Given the description of an element on the screen output the (x, y) to click on. 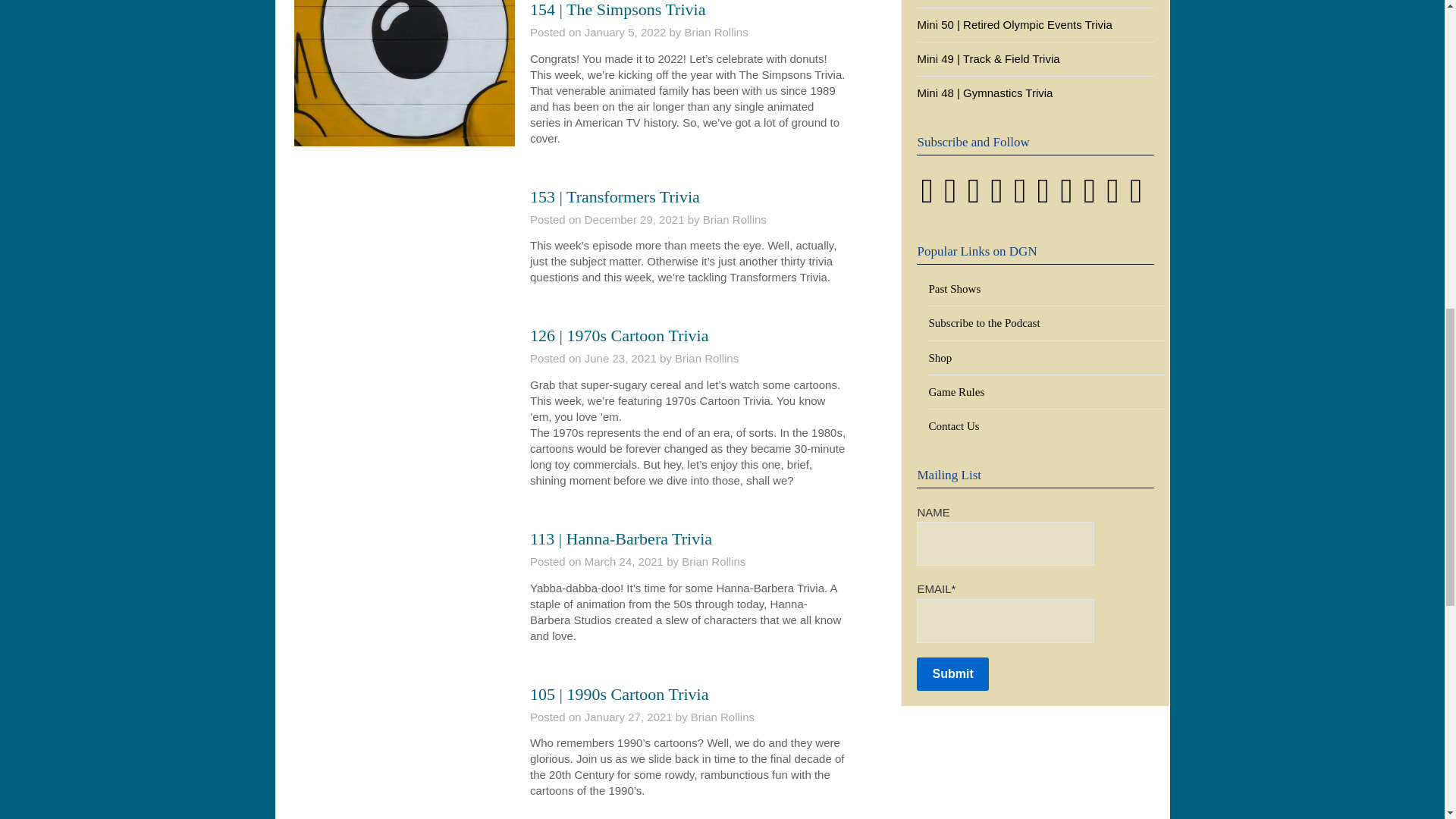
January 5, 2022 (625, 31)
Subscribe on Google Play (949, 197)
RSS Feed (1135, 197)
Follow the show on BlueSky (1066, 197)
Subscribe to the email list. (1112, 197)
Like Us on Facebook (1042, 197)
Submit (952, 674)
RSS Feed (1019, 197)
Subscribe on Stitcher (926, 197)
The DGN YouTube Channel (996, 197)
